Given the description of an element on the screen output the (x, y) to click on. 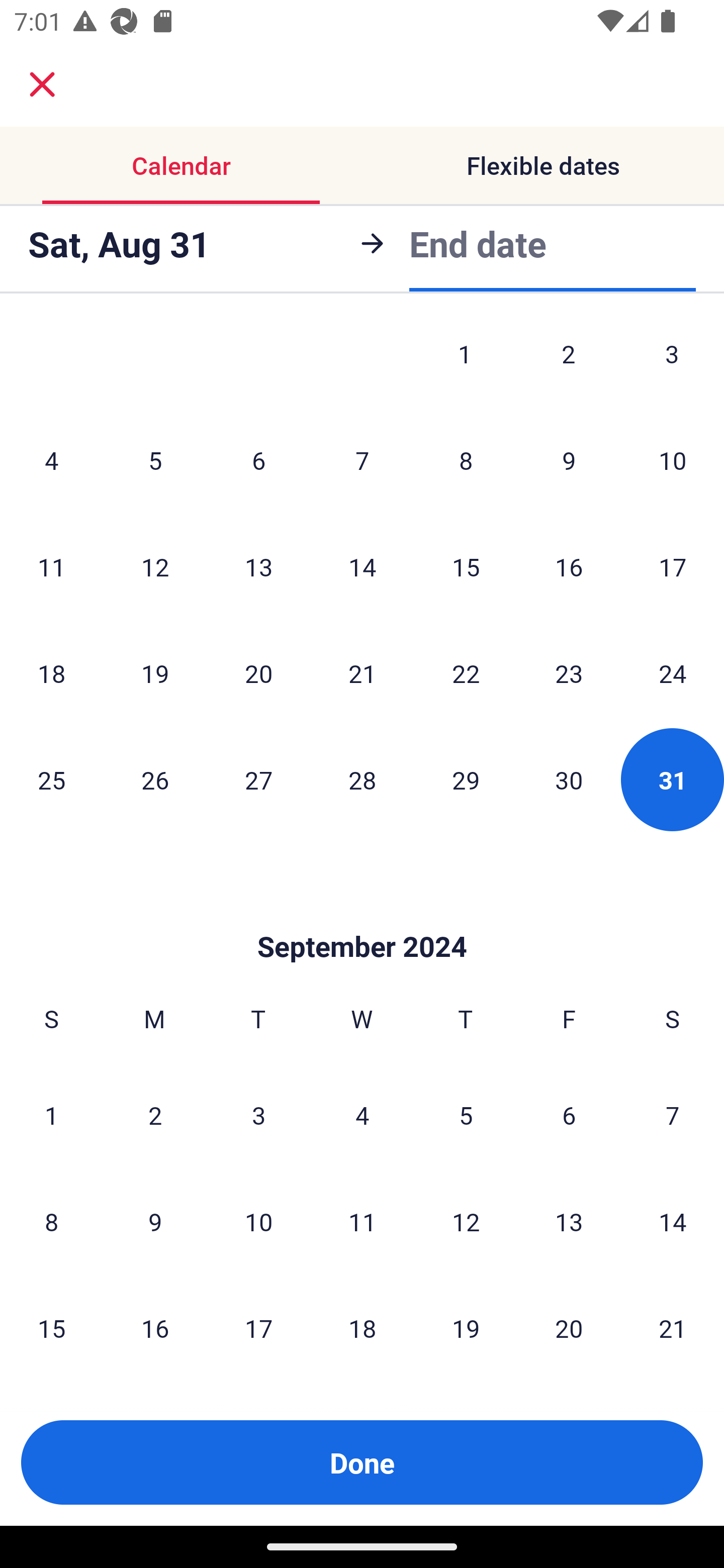
close. (42, 84)
Flexible dates (542, 164)
End date (477, 243)
1 Thursday, August 1, 2024 (464, 362)
2 Friday, August 2, 2024 (568, 362)
3 Saturday, August 3, 2024 (672, 362)
4 Sunday, August 4, 2024 (51, 460)
5 Monday, August 5, 2024 (155, 460)
6 Tuesday, August 6, 2024 (258, 460)
7 Wednesday, August 7, 2024 (362, 460)
8 Thursday, August 8, 2024 (465, 460)
9 Friday, August 9, 2024 (569, 460)
10 Saturday, August 10, 2024 (672, 460)
11 Sunday, August 11, 2024 (51, 566)
12 Monday, August 12, 2024 (155, 566)
13 Tuesday, August 13, 2024 (258, 566)
14 Wednesday, August 14, 2024 (362, 566)
15 Thursday, August 15, 2024 (465, 566)
16 Friday, August 16, 2024 (569, 566)
17 Saturday, August 17, 2024 (672, 566)
18 Sunday, August 18, 2024 (51, 672)
19 Monday, August 19, 2024 (155, 672)
20 Tuesday, August 20, 2024 (258, 672)
21 Wednesday, August 21, 2024 (362, 672)
22 Thursday, August 22, 2024 (465, 672)
23 Friday, August 23, 2024 (569, 672)
24 Saturday, August 24, 2024 (672, 672)
25 Sunday, August 25, 2024 (51, 779)
26 Monday, August 26, 2024 (155, 779)
27 Tuesday, August 27, 2024 (258, 779)
28 Wednesday, August 28, 2024 (362, 779)
29 Thursday, August 29, 2024 (465, 779)
30 Friday, August 30, 2024 (569, 779)
Skip to Done (362, 916)
1 Sunday, September 1, 2024 (51, 1114)
2 Monday, September 2, 2024 (155, 1114)
3 Tuesday, September 3, 2024 (258, 1114)
4 Wednesday, September 4, 2024 (362, 1114)
5 Thursday, September 5, 2024 (465, 1114)
6 Friday, September 6, 2024 (569, 1114)
7 Saturday, September 7, 2024 (672, 1114)
8 Sunday, September 8, 2024 (51, 1221)
9 Monday, September 9, 2024 (155, 1221)
10 Tuesday, September 10, 2024 (258, 1221)
11 Wednesday, September 11, 2024 (362, 1221)
12 Thursday, September 12, 2024 (465, 1221)
13 Friday, September 13, 2024 (569, 1221)
14 Saturday, September 14, 2024 (672, 1221)
15 Sunday, September 15, 2024 (51, 1327)
16 Monday, September 16, 2024 (155, 1327)
17 Tuesday, September 17, 2024 (258, 1327)
18 Wednesday, September 18, 2024 (362, 1327)
19 Thursday, September 19, 2024 (465, 1327)
20 Friday, September 20, 2024 (569, 1327)
21 Saturday, September 21, 2024 (672, 1327)
Done (361, 1462)
